Given the description of an element on the screen output the (x, y) to click on. 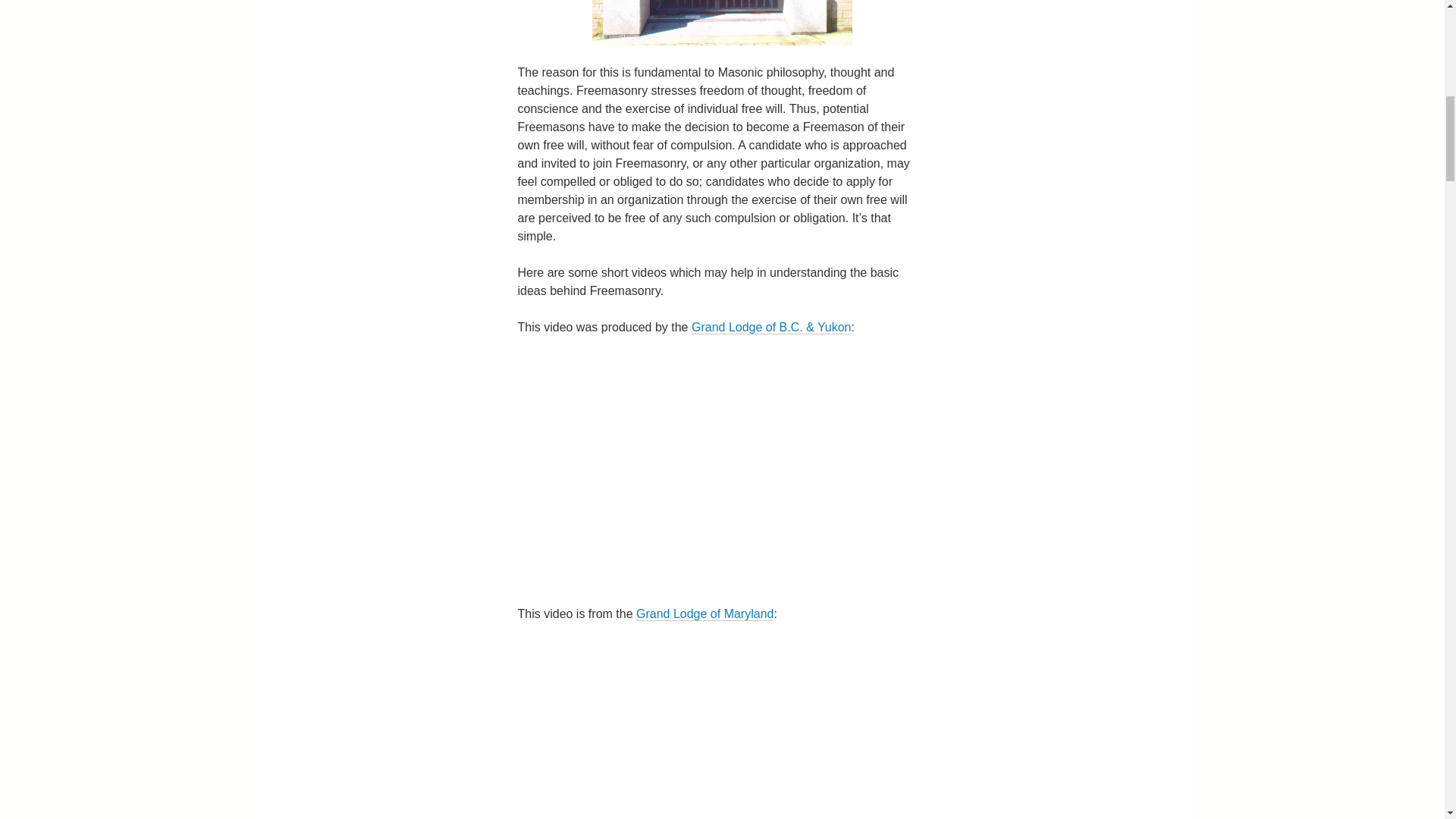
Grand Lodge of Maryland (704, 613)
